Given the description of an element on the screen output the (x, y) to click on. 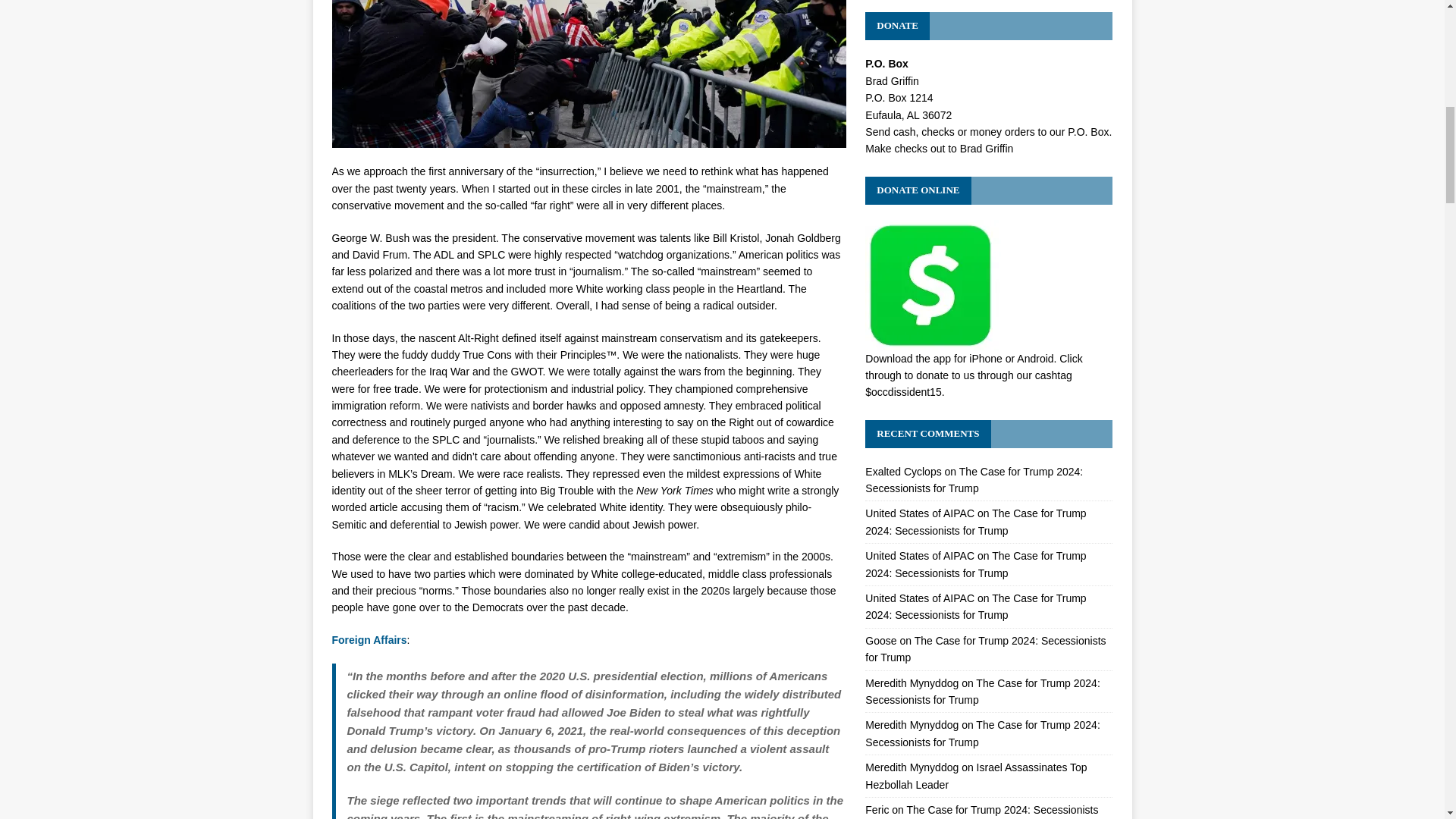
Foreign Affairs (369, 639)
im-289287 (588, 74)
